Given the description of an element on the screen output the (x, y) to click on. 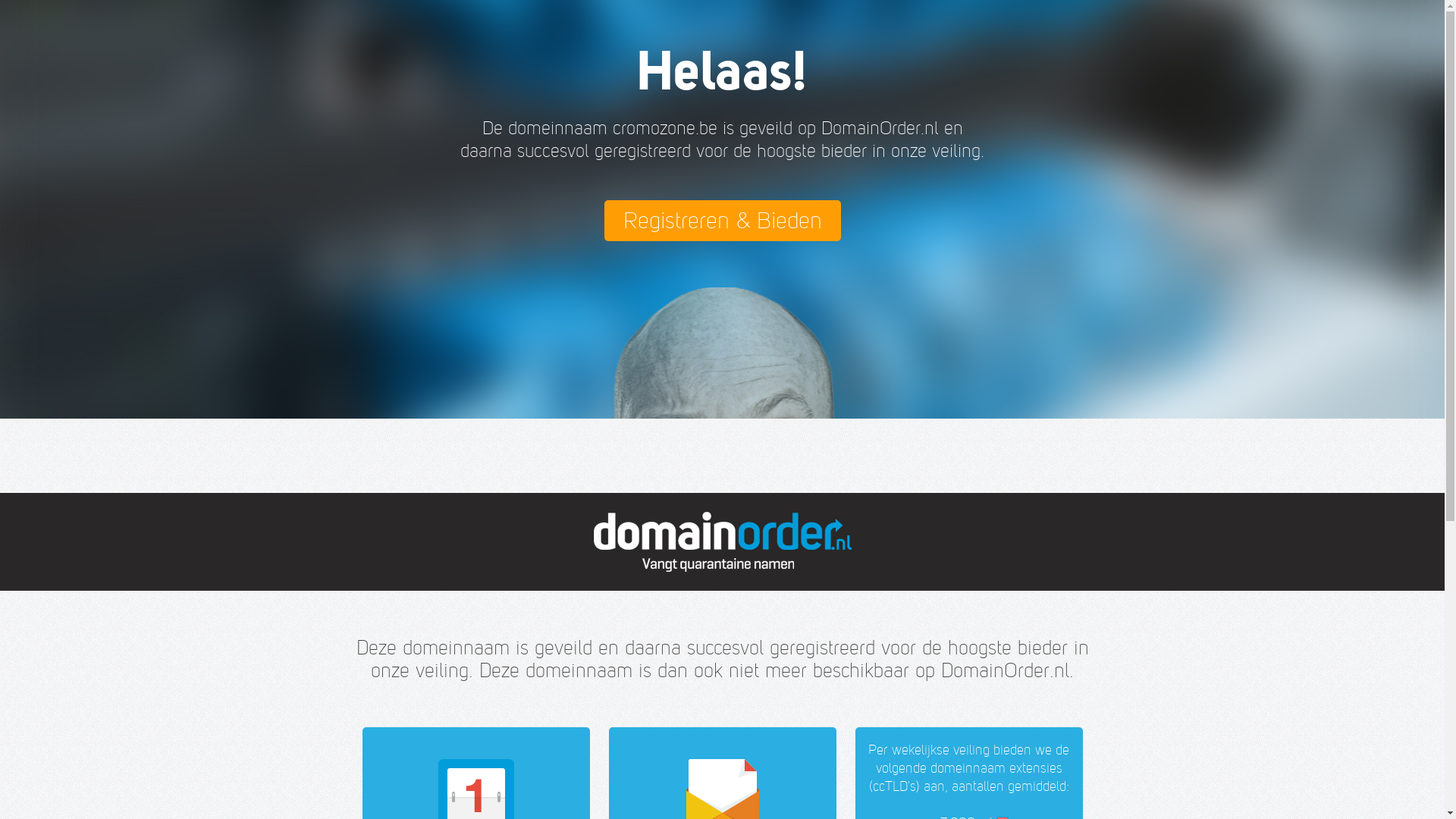
Registreren & Bieden Element type: text (721, 220)
